Given the description of an element on the screen output the (x, y) to click on. 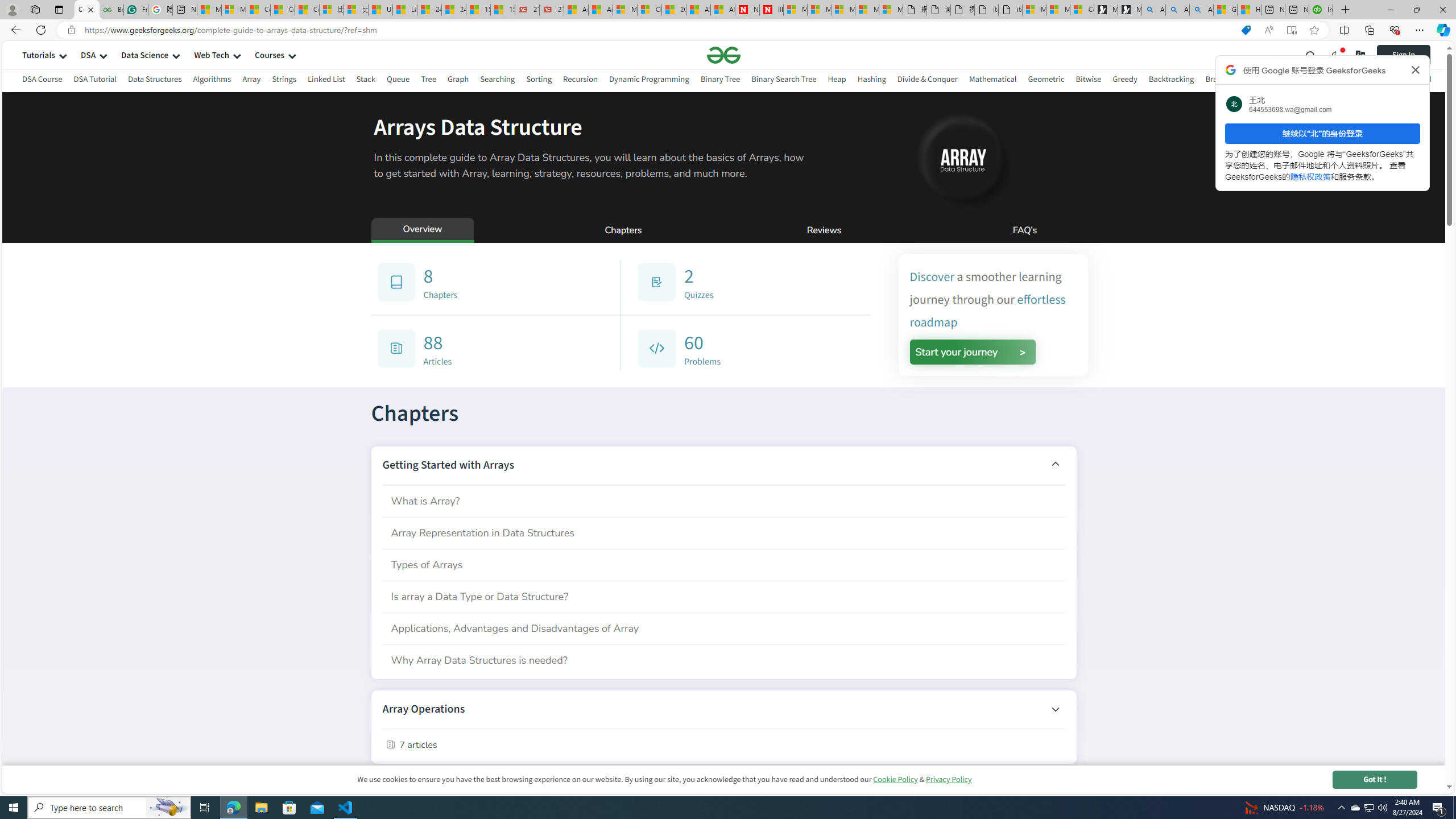
Queue (398, 79)
Dynamic Programming (648, 79)
Data Structures (154, 80)
20 Ways to Boost Your Protein Intake at Every Meal (673, 9)
Tree (428, 80)
Complete Guide to Arrays Data Structure - GeeksforGeeks (86, 9)
Recursion (579, 80)
Why Array Data Structures is needed? (723, 660)
Mathematical (992, 80)
Illness news & latest pictures from Newsweek.com (770, 9)
Divide & Conquer (927, 80)
Lightbox (723, 417)
